Given the description of an element on the screen output the (x, y) to click on. 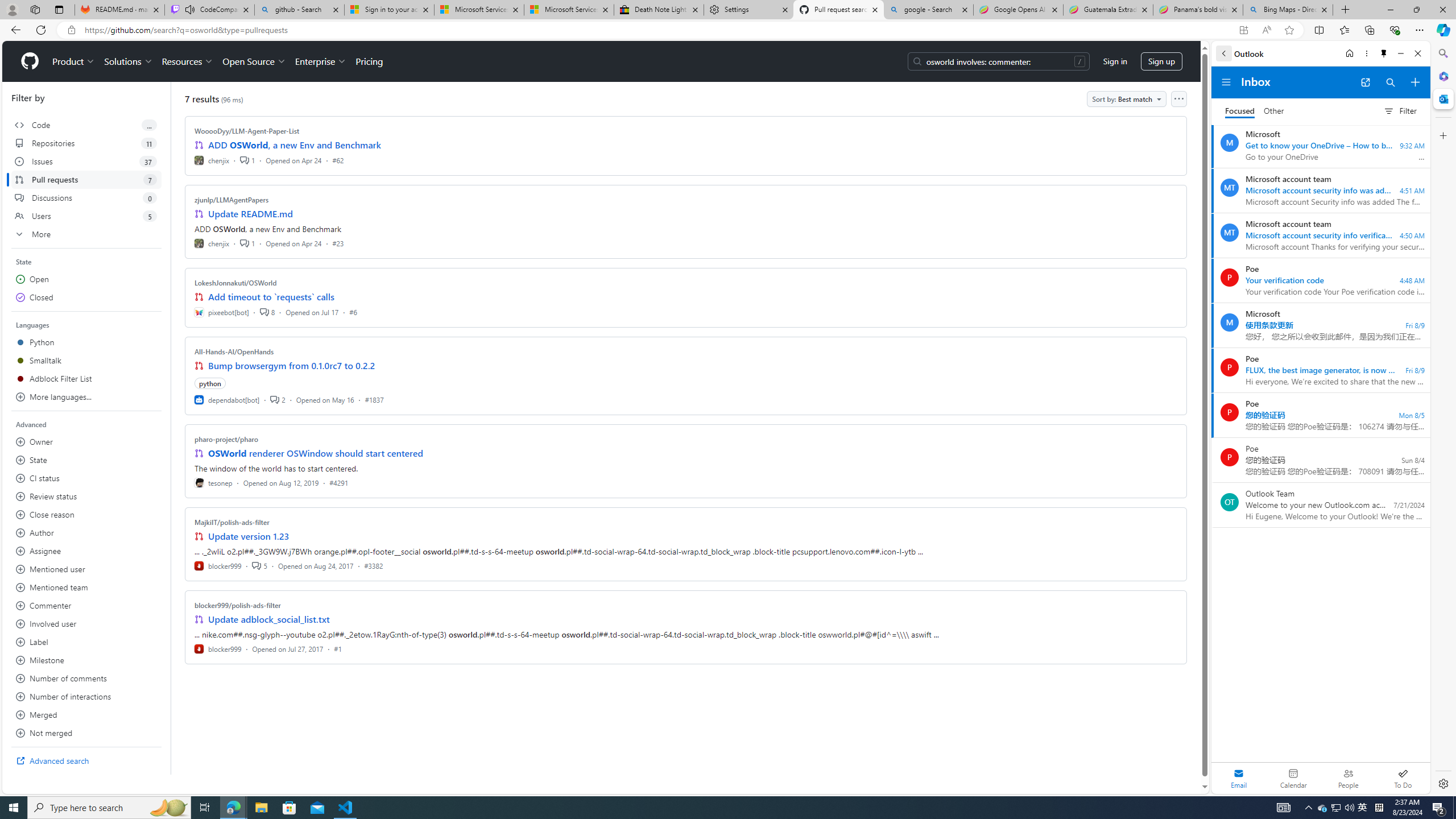
Selected mail module (1238, 777)
Update adblock_social_list.txt (269, 619)
zjunlp/LLMAgentPapers (232, 199)
Sign up (1161, 61)
#1837 (374, 398)
